Given the description of an element on the screen output the (x, y) to click on. 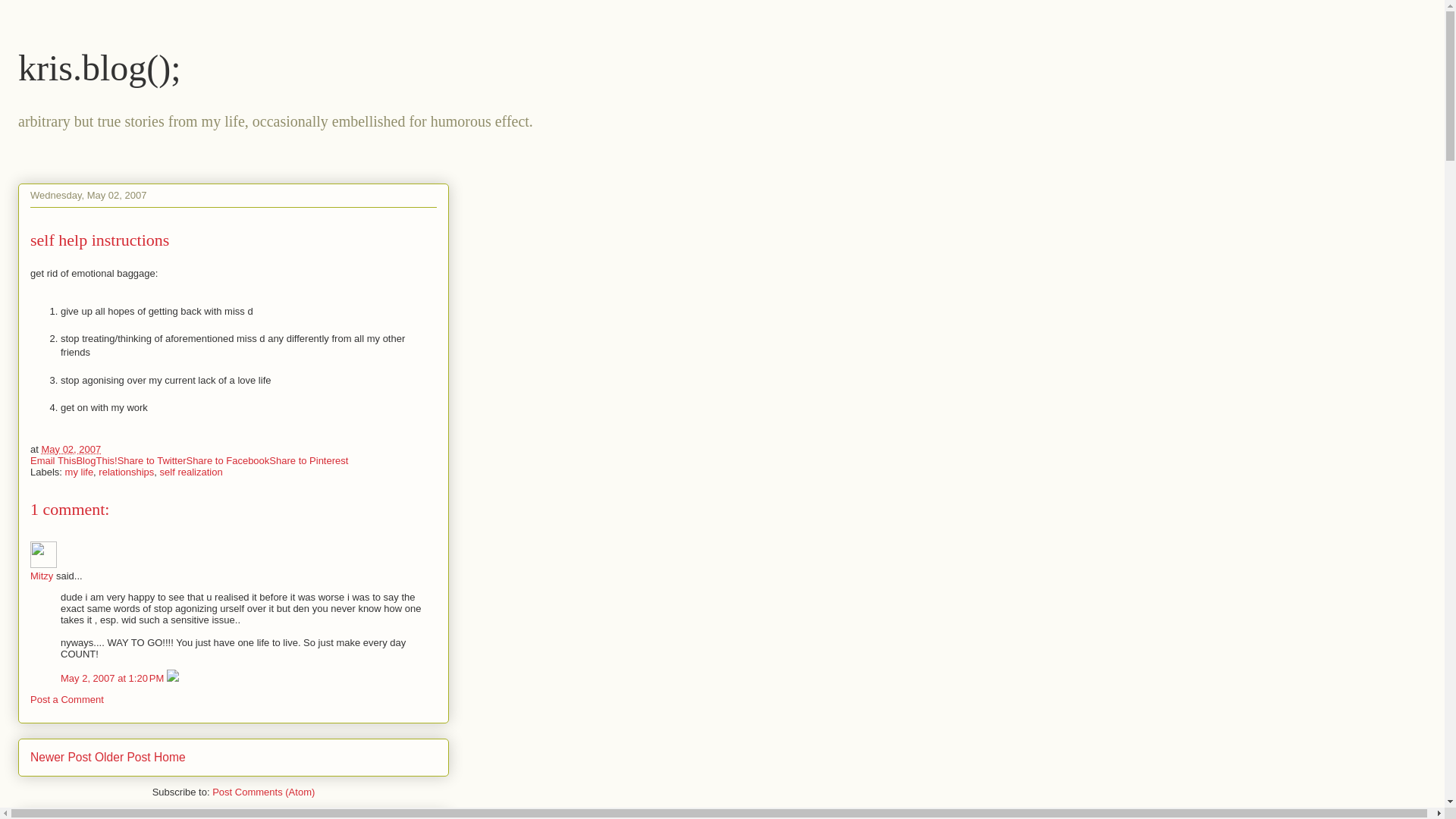
comment permalink (114, 677)
BlogThis! (95, 460)
Mitzy (41, 575)
Share to Twitter (151, 460)
Mitzy (43, 554)
permanent link (70, 449)
Share to Pinterest (308, 460)
Email This (52, 460)
Home (170, 757)
Share to Facebook (227, 460)
self realization (191, 471)
Delete Comment (173, 677)
Share to Twitter (151, 460)
May 02, 2007 (70, 449)
BlogThis! (95, 460)
